Given the description of an element on the screen output the (x, y) to click on. 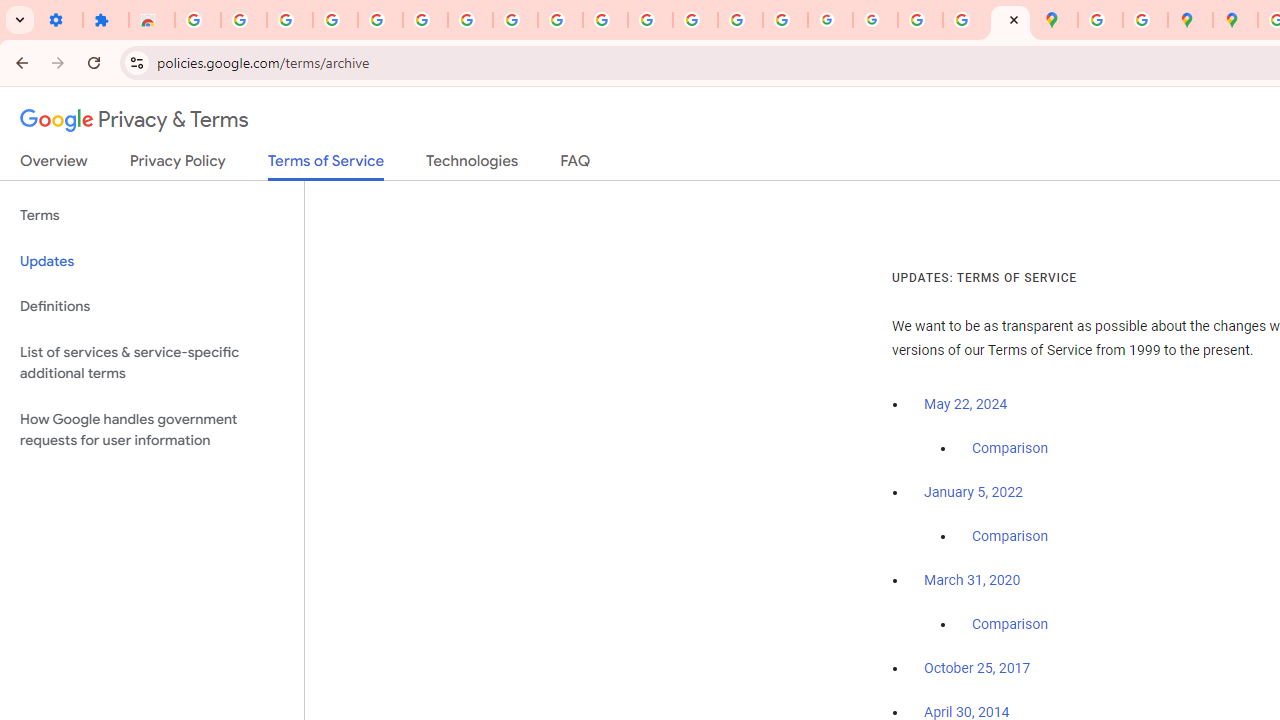
Google Maps (1055, 20)
